Given the description of an element on the screen output the (x, y) to click on. 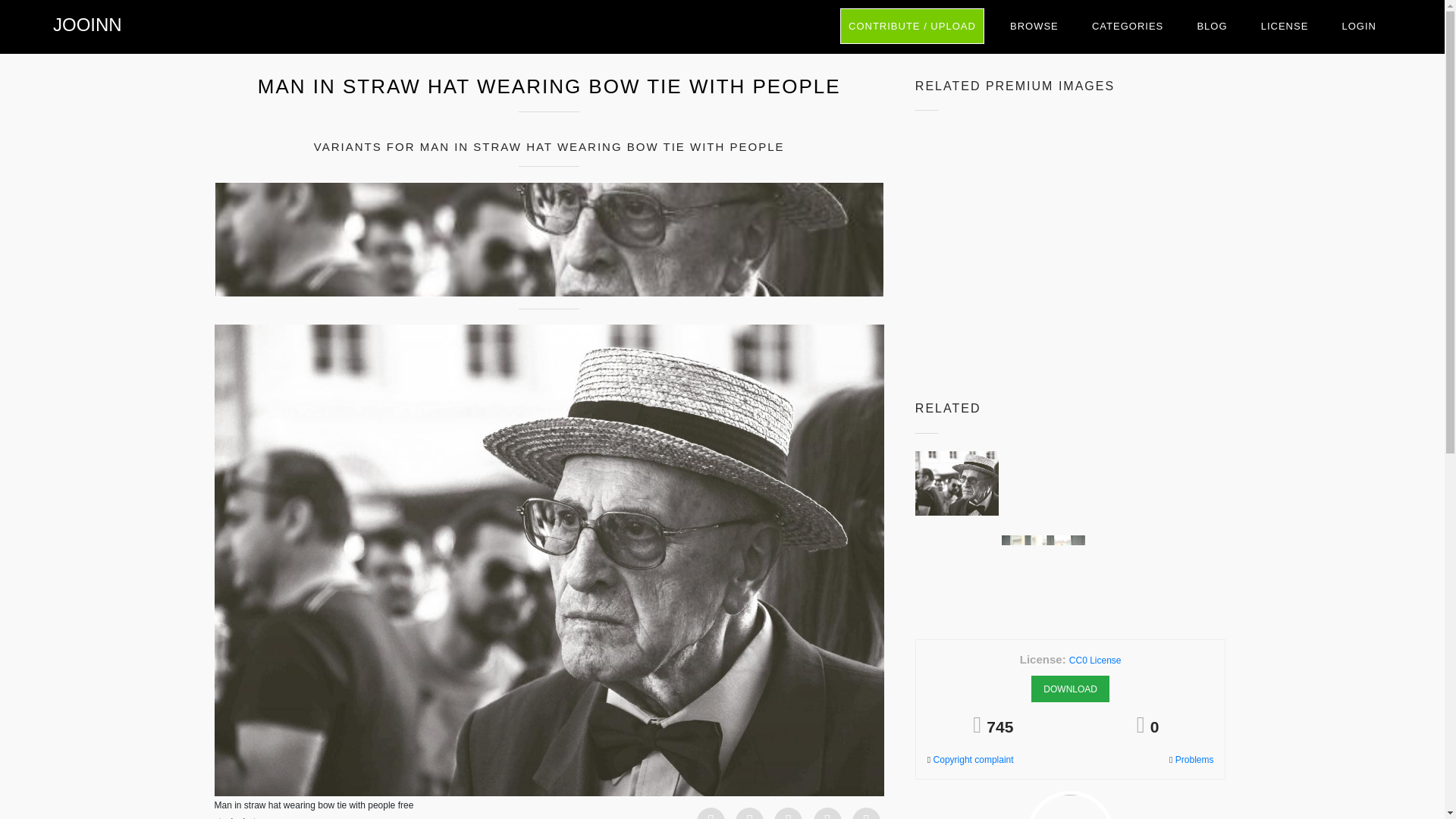
Set of Vector Ties and Bow Ties (956, 159)
Share on Facebook (710, 815)
Share on Reddit (866, 815)
Realistic white, black and red bow tie (956, 244)
Share on Twitter (748, 815)
Handmade straw hat (1129, 244)
LOGIN (1359, 26)
Free photo (87, 24)
LICENSE (1284, 26)
BROWSE (1034, 26)
CATEGORIES (1127, 26)
Share on Google Plus (789, 815)
JOOINN (87, 24)
